Given the description of an element on the screen output the (x, y) to click on. 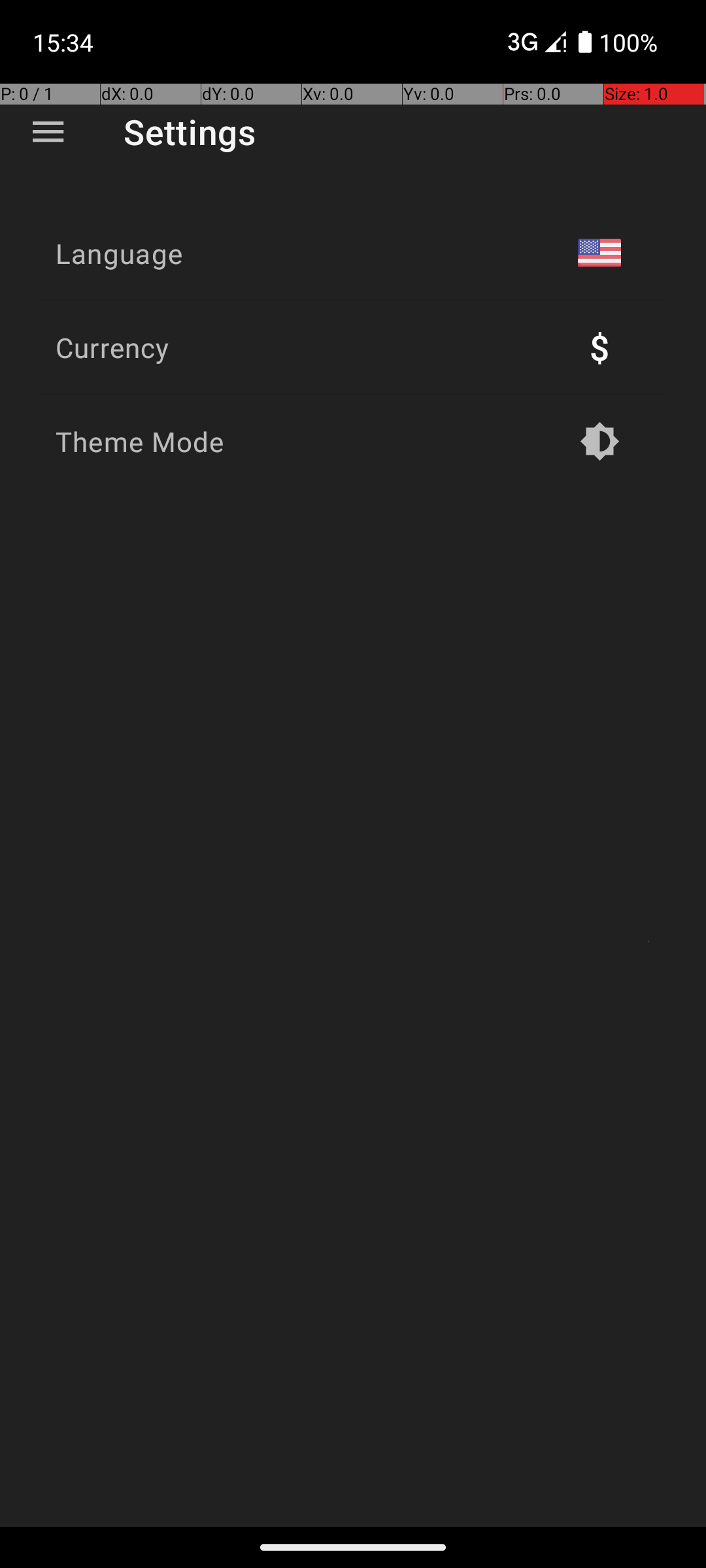
Language Element type: android.widget.TextView (118, 252)
Currency Element type: android.widget.TextView (111, 346)
$ Element type: android.widget.TextView (599, 347)
Theme Mode Element type: android.widget.TextView (139, 440)
